Given the description of an element on the screen output the (x, y) to click on. 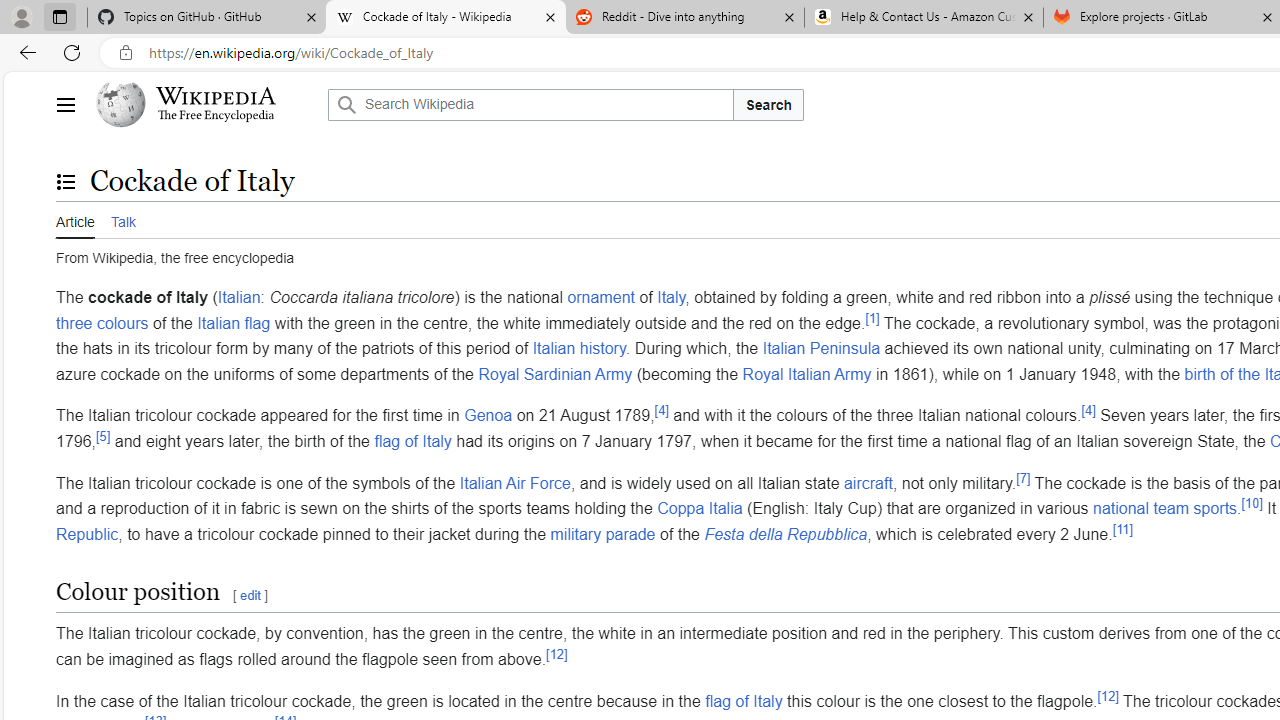
[5] (103, 435)
